Given the description of an element on the screen output the (x, y) to click on. 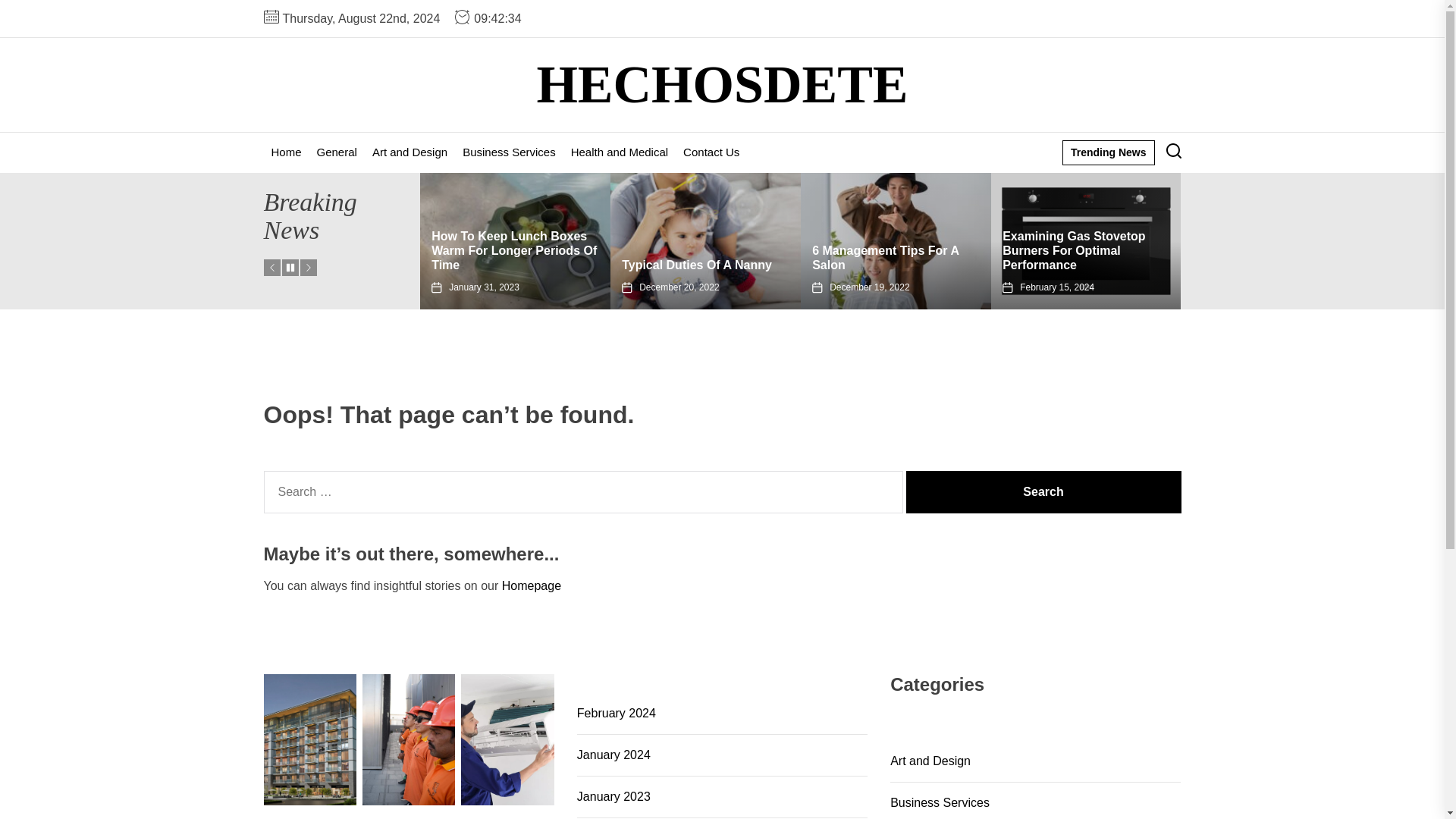
Business Services (508, 152)
Art and Design (409, 152)
Home (285, 152)
Contact Us (710, 152)
General (336, 152)
Health and Medical (619, 152)
HECHOSDETE (721, 85)
How To Keep Lunch Boxes Warm For Longer Periods Of Time (513, 250)
Search (1042, 491)
